Given the description of an element on the screen output the (x, y) to click on. 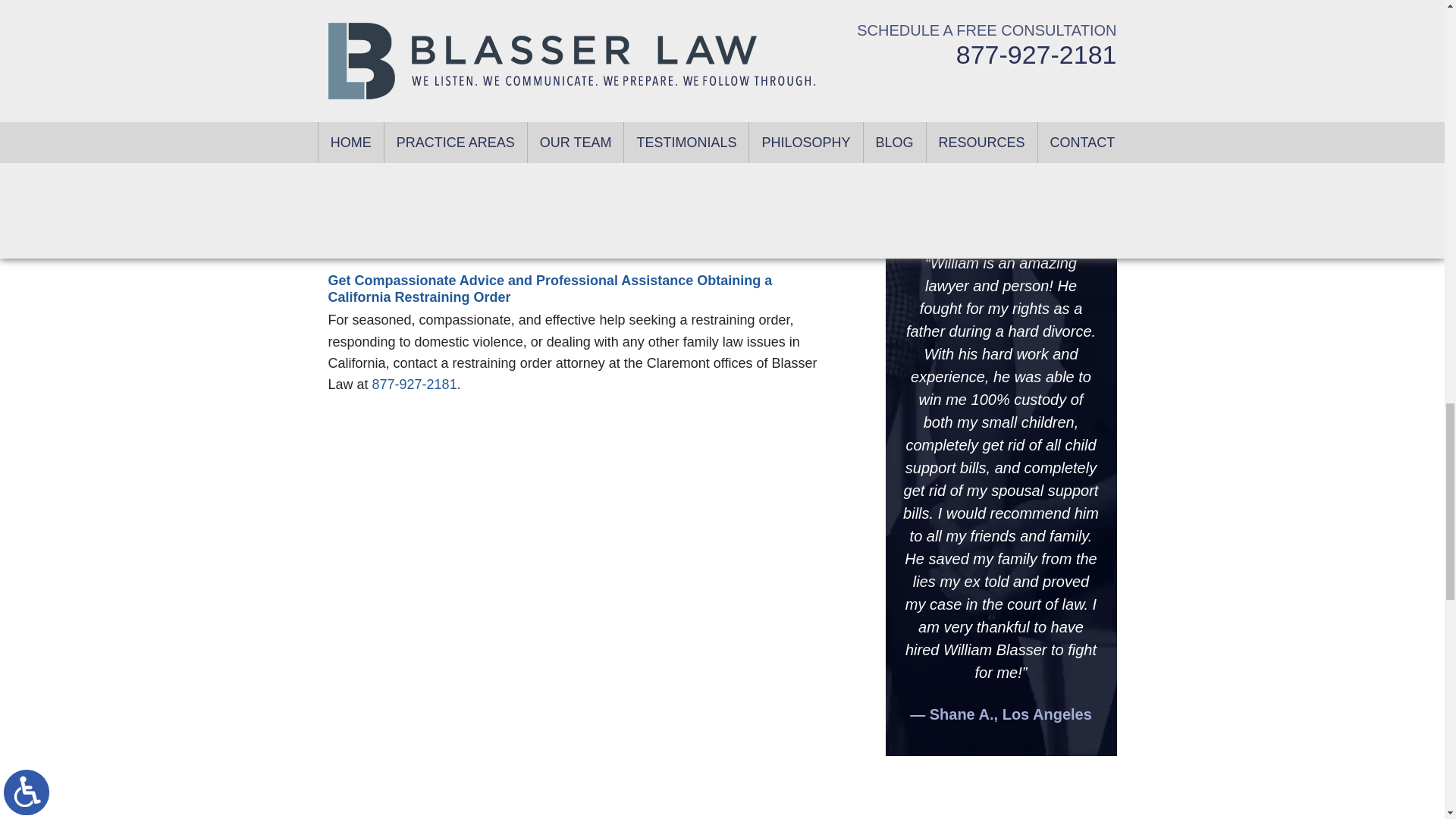
Personal Injury Attorney (1000, 134)
Estate Planning Attorney (1000, 33)
